Given the description of an element on the screen output the (x, y) to click on. 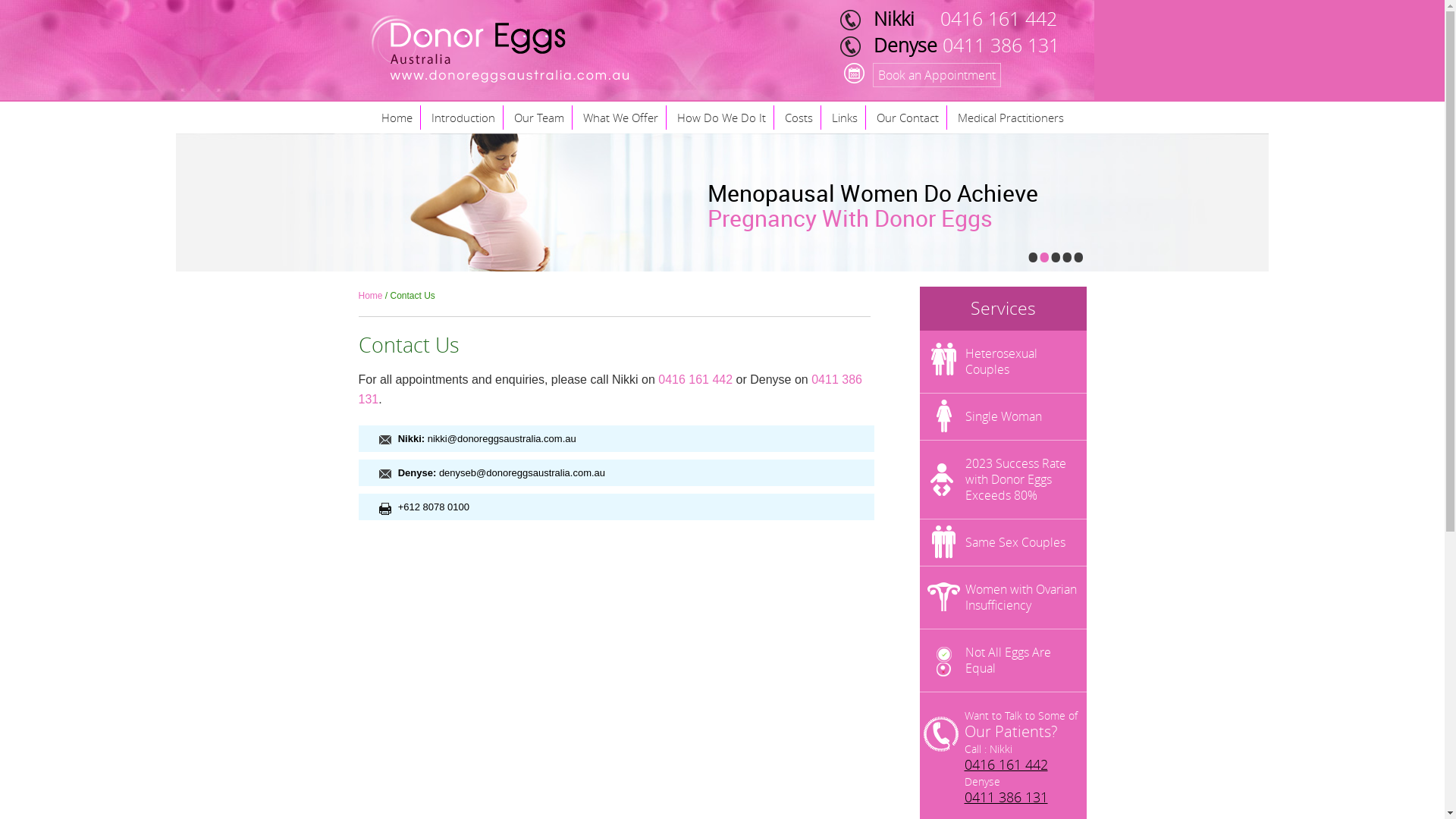
Home Element type: text (396, 117)
Links Element type: text (844, 117)
Book an Appointment Element type: text (936, 74)
Not All Eggs Are Equal Element type: text (1002, 660)
0416 161 442 Element type: text (695, 379)
2023 Success Rate with Donor Eggs Exceeds 80% Element type: text (1002, 479)
Medical Practitioners Element type: text (1009, 117)
Home Element type: text (369, 295)
Single Woman Element type: text (1002, 416)
Women with Ovarian Insufficiency Element type: text (1002, 597)
What We Offer Element type: text (619, 117)
0411 386 131 Element type: text (609, 389)
How Do We Do It Element type: text (720, 117)
denyseb@donoreggsaustralia.com.au Element type: text (522, 472)
Heterosexual Couples Element type: text (1002, 361)
0411 386 131 Element type: text (998, 44)
Same Sex Couples Element type: text (1002, 542)
0416 161 442 Element type: text (1006, 764)
Costs Element type: text (798, 117)
Our Team Element type: text (539, 117)
0416 161 442 Element type: text (998, 18)
0411 386 131 Element type: text (1006, 796)
Introduction Element type: text (462, 117)
nikki@donoreggsaustralia.com.au Element type: text (501, 438)
Our Contact Element type: text (908, 117)
